Given the description of an element on the screen output the (x, y) to click on. 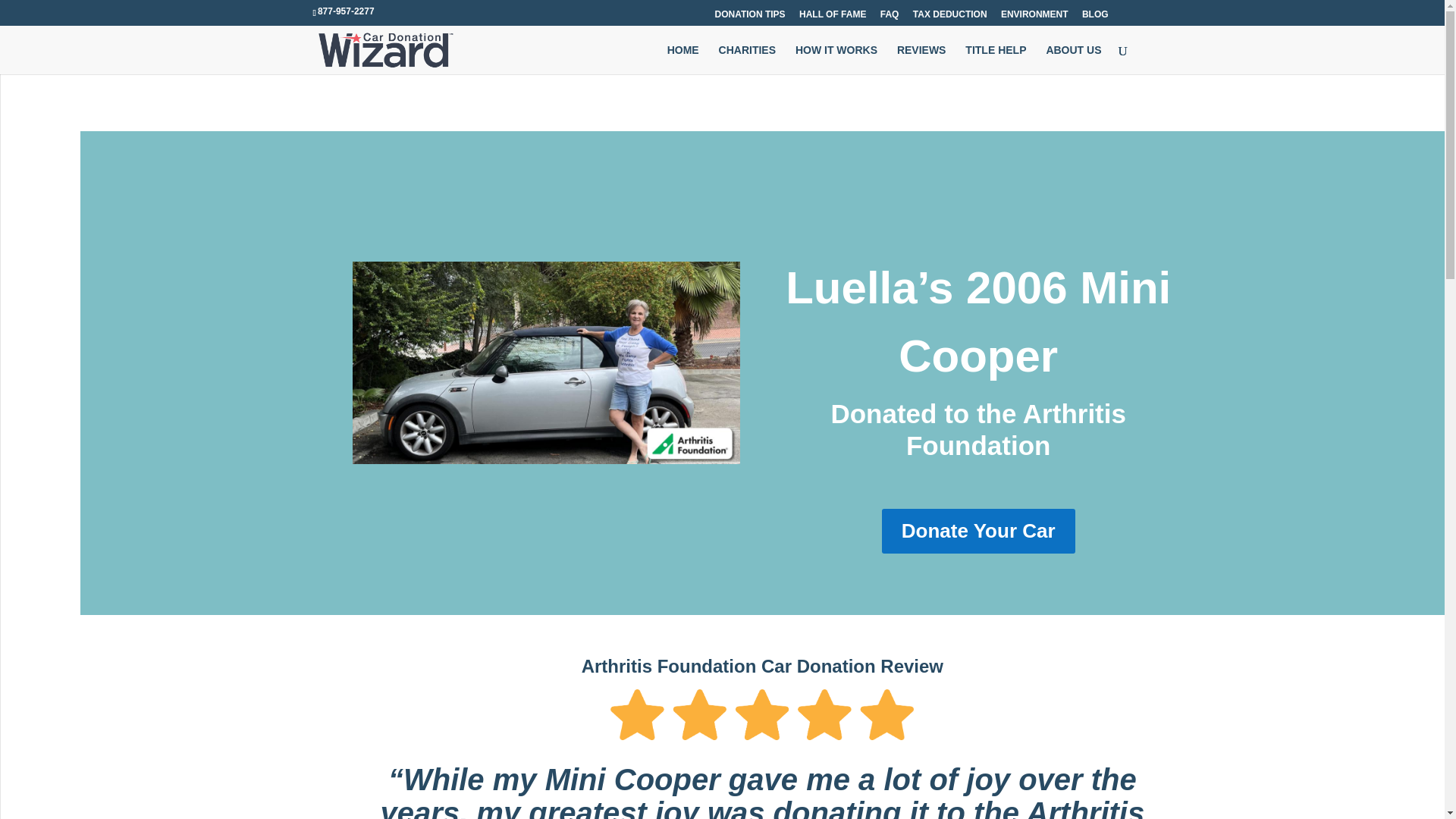
HOME (682, 59)
HOW IT WORKS (835, 59)
BLOG (1094, 17)
REVIEWS (921, 59)
ABOUT US (1072, 59)
Donate Your Car (978, 531)
HALL OF FAME (832, 17)
TAX DEDUCTION (949, 17)
DONATION TIPS (749, 17)
5star-01 (762, 714)
